Given the description of an element on the screen output the (x, y) to click on. 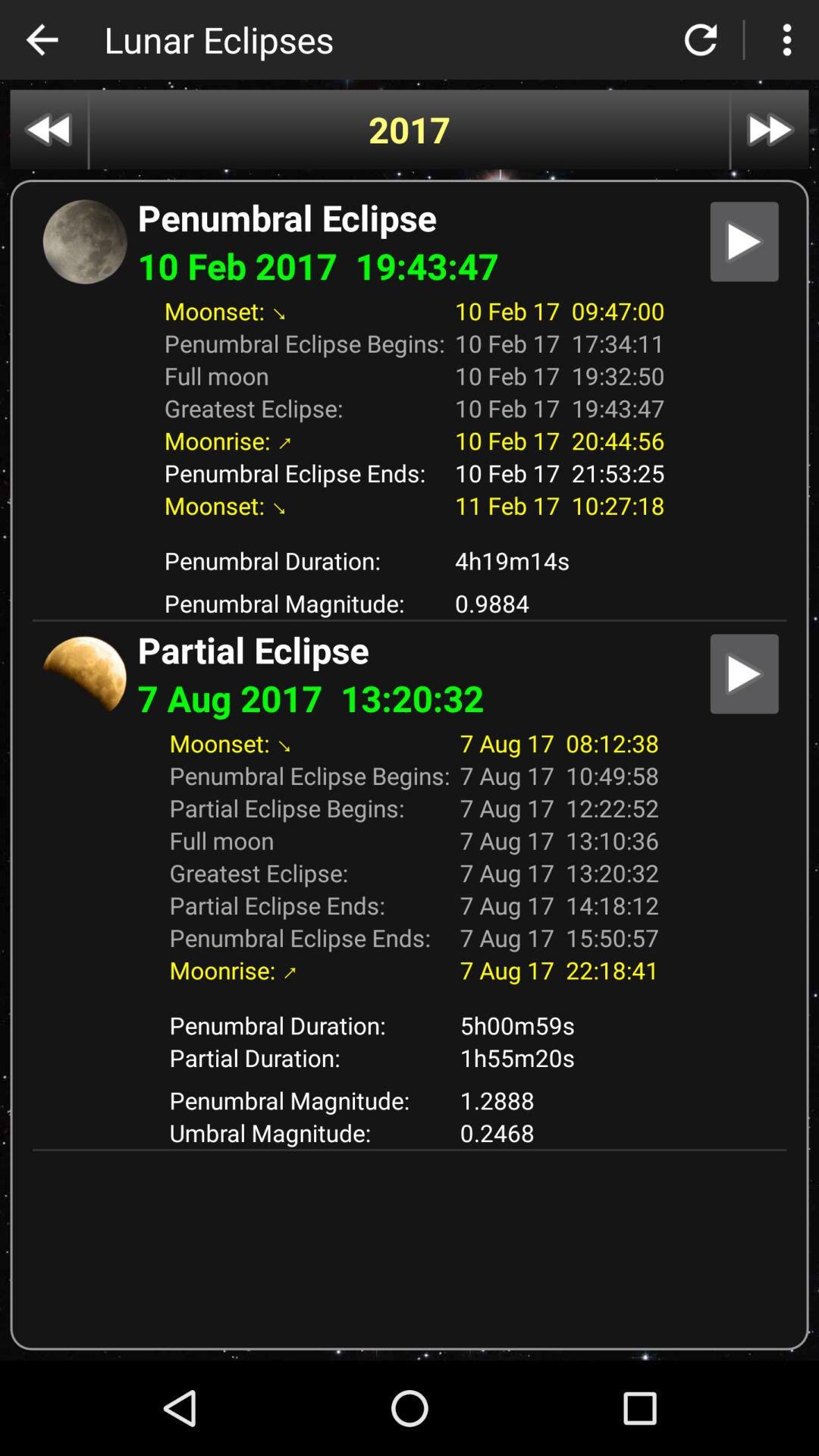
choose icon next to lunar eclipses app (41, 39)
